Given the description of an element on the screen output the (x, y) to click on. 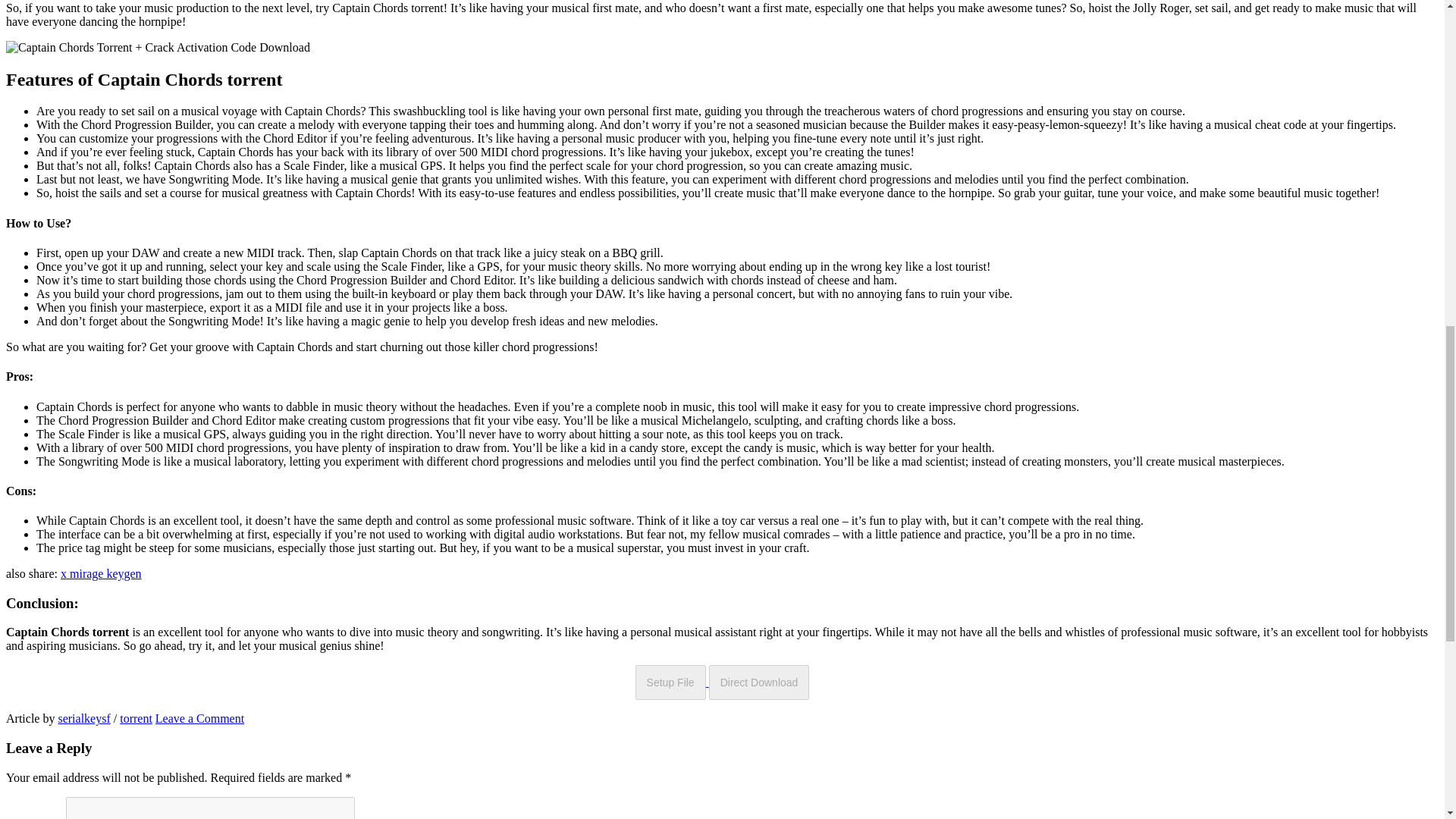
x mirage keygen (101, 573)
Setup File Direct Download (721, 681)
